Given the description of an element on the screen output the (x, y) to click on. 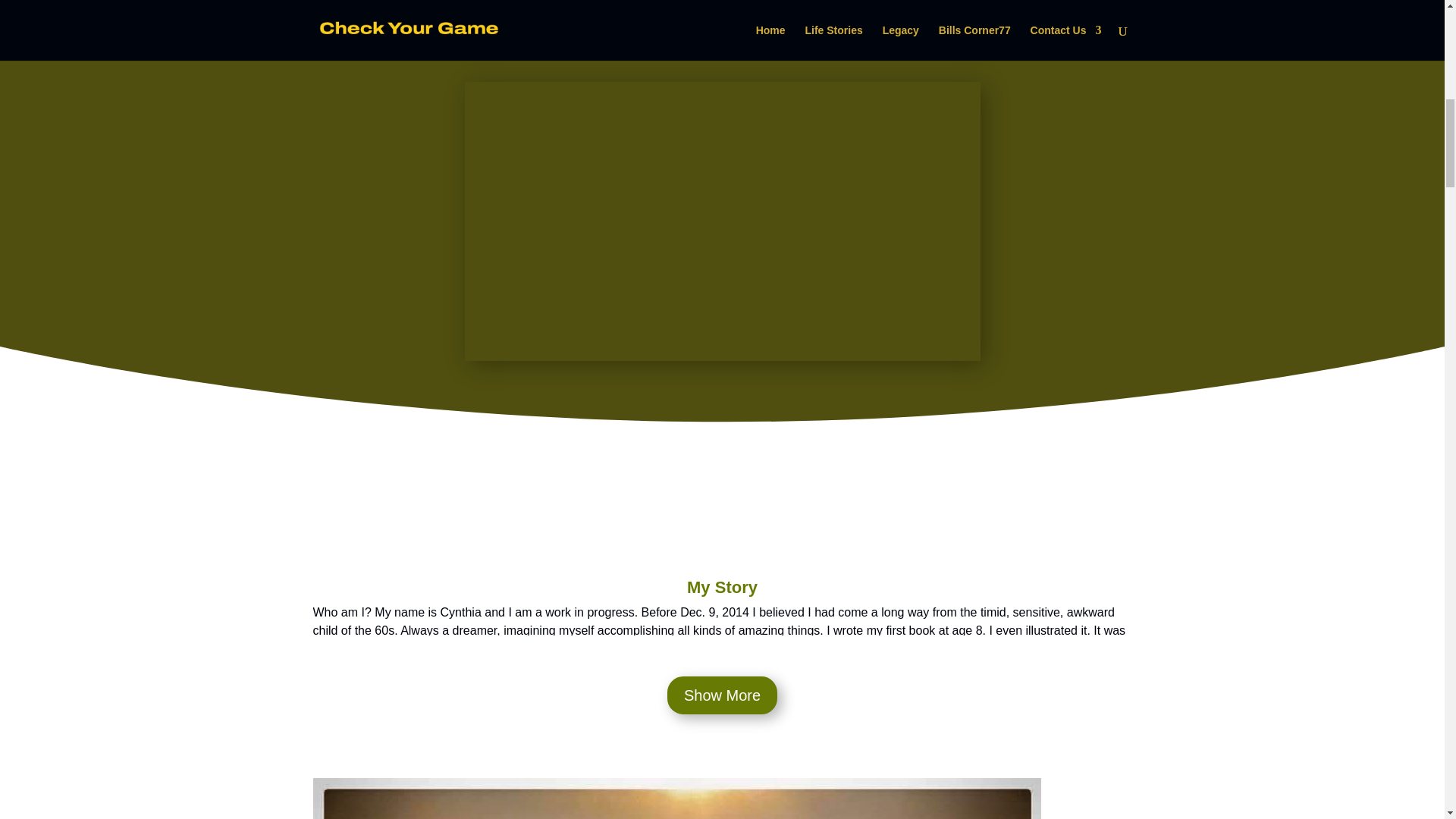
Cynthia Breen image (677, 798)
Show More (721, 695)
